Given the description of an element on the screen output the (x, y) to click on. 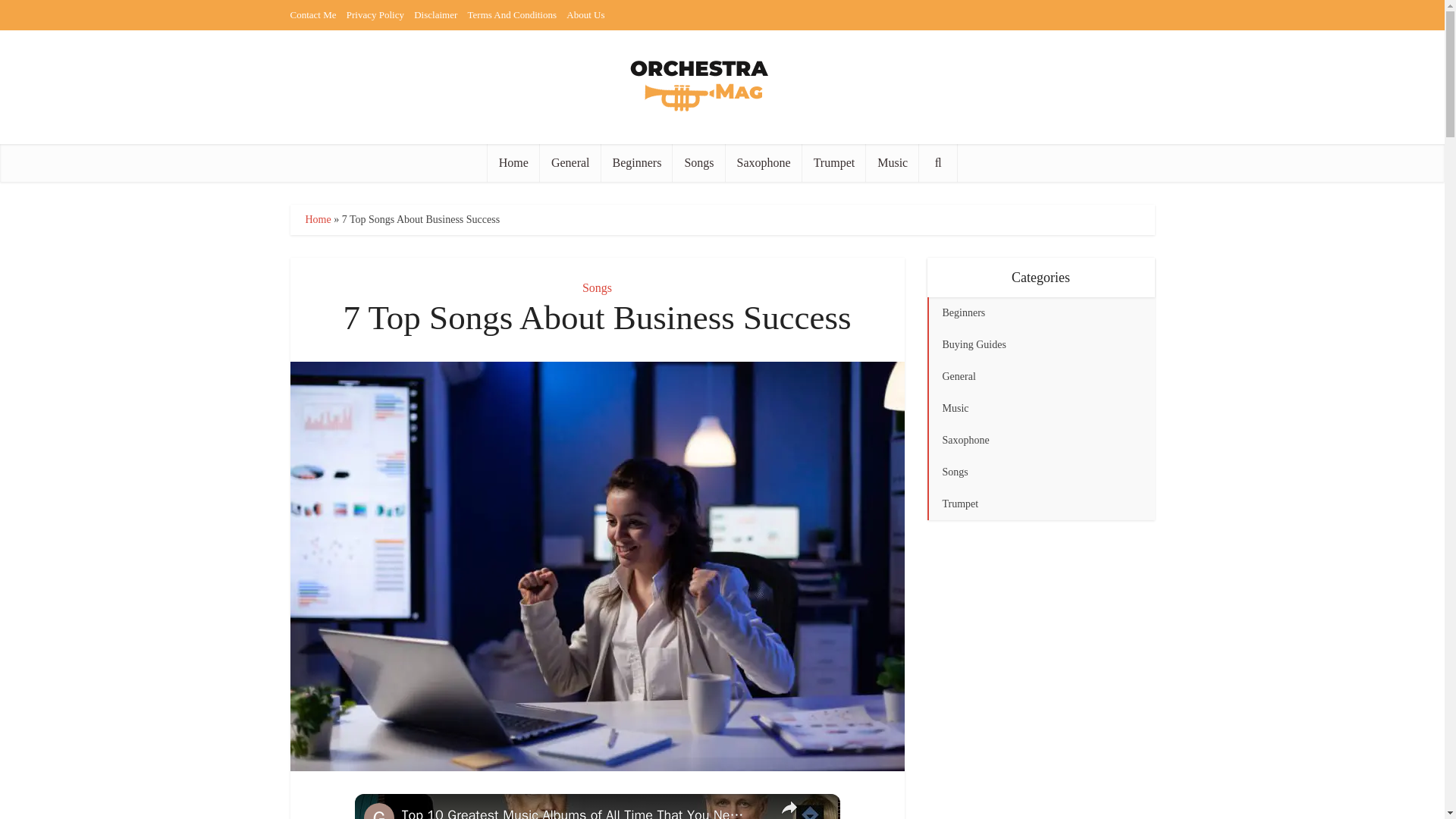
Songs (698, 162)
General (570, 162)
Beginners (636, 162)
Home (317, 219)
About Us (585, 14)
Saxophone (763, 162)
Privacy Policy (375, 14)
Disclaimer (435, 14)
Contact Me (312, 14)
Home (513, 162)
